Given the description of an element on the screen output the (x, y) to click on. 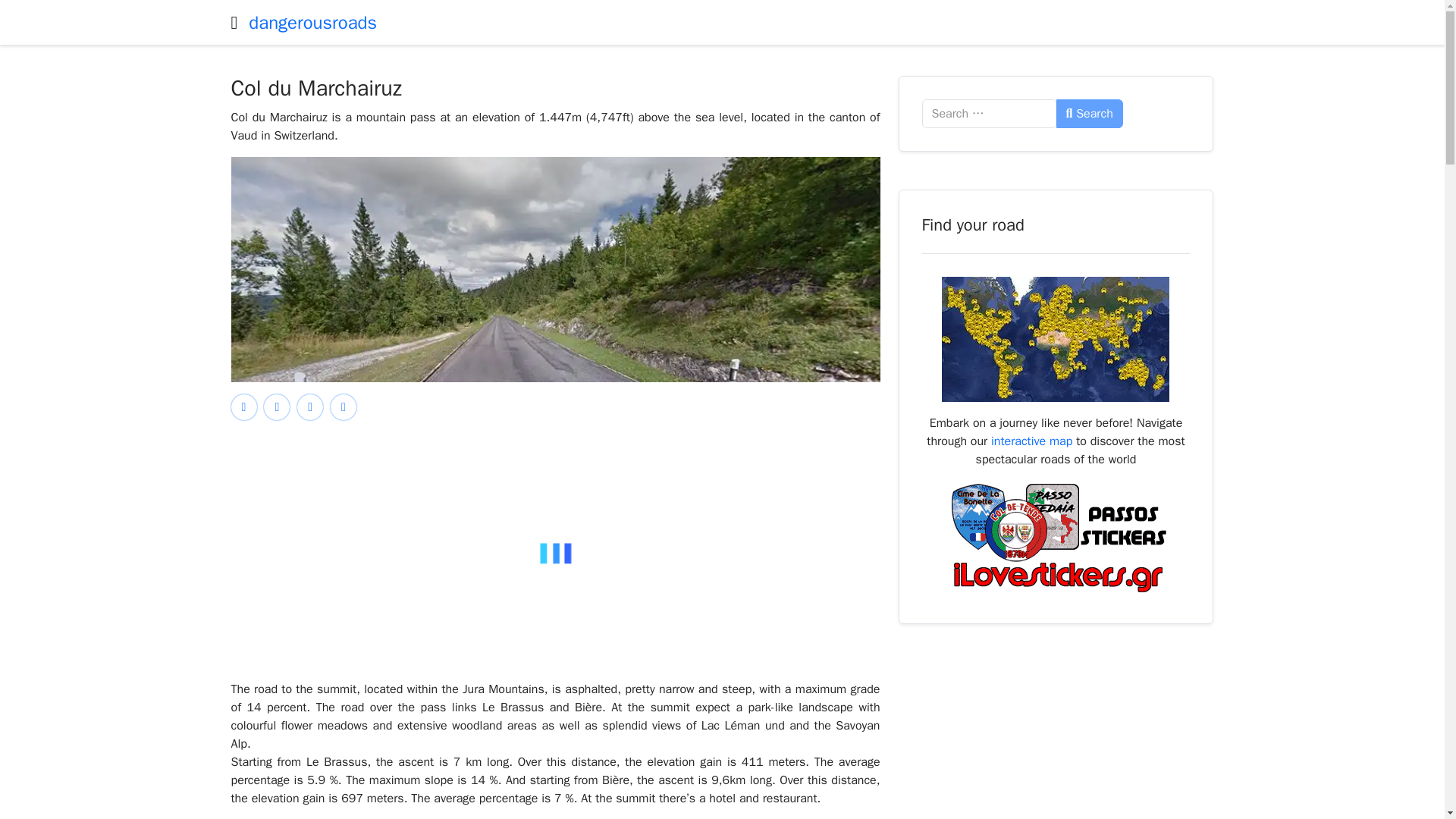
Find Your Road (1055, 338)
Search (1088, 113)
dangerousroads (312, 22)
I Love Stickers (1055, 536)
interactive map (1031, 441)
